Given the description of an element on the screen output the (x, y) to click on. 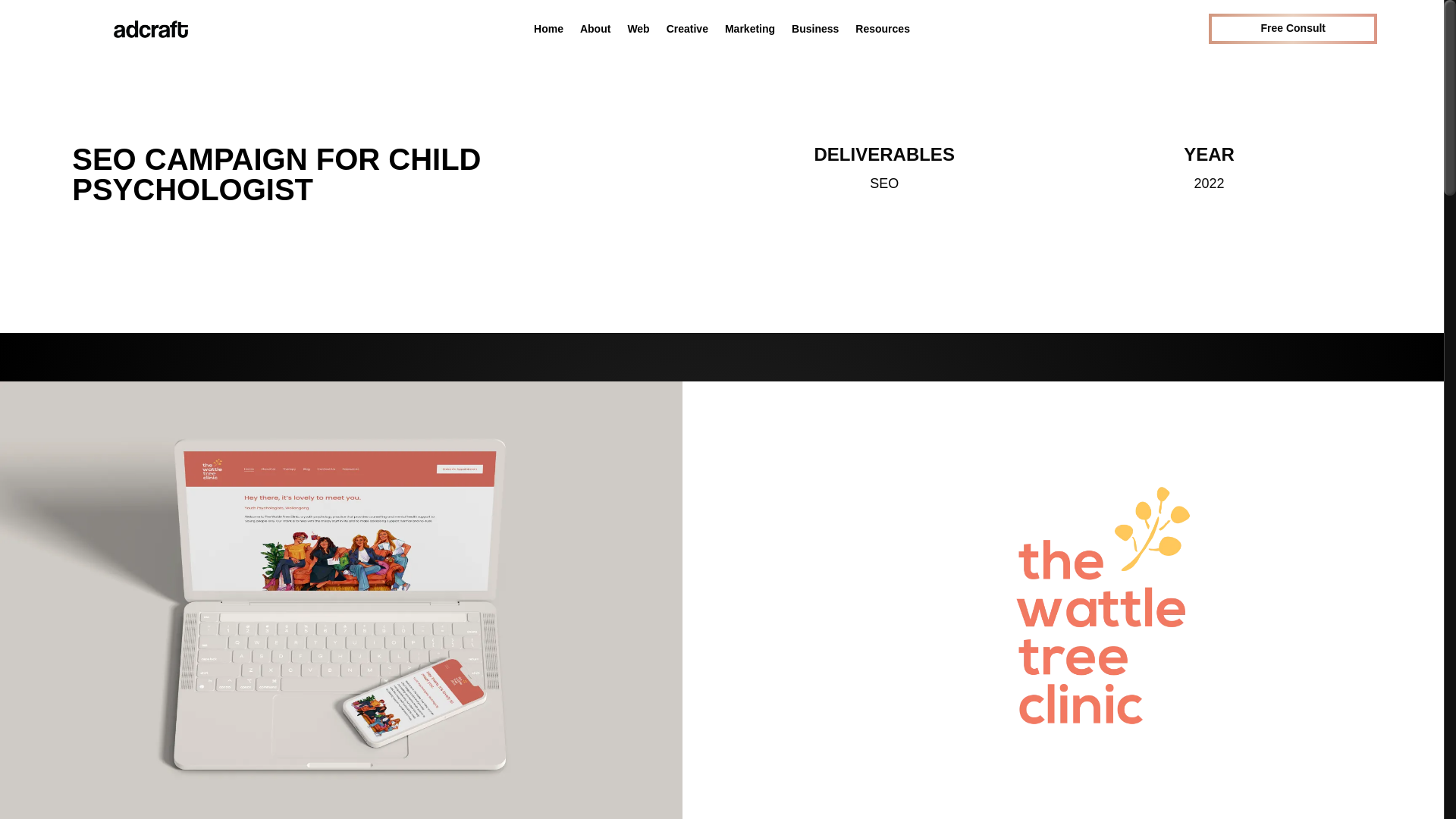
SEO (883, 183)
Marketing (749, 31)
Creative (686, 31)
AdCraft-Site-Icon-Black (151, 28)
About (594, 31)
Business (815, 31)
Resources (883, 31)
Web (638, 31)
Home (548, 31)
Free Consult (1292, 28)
